Given the description of an element on the screen output the (x, y) to click on. 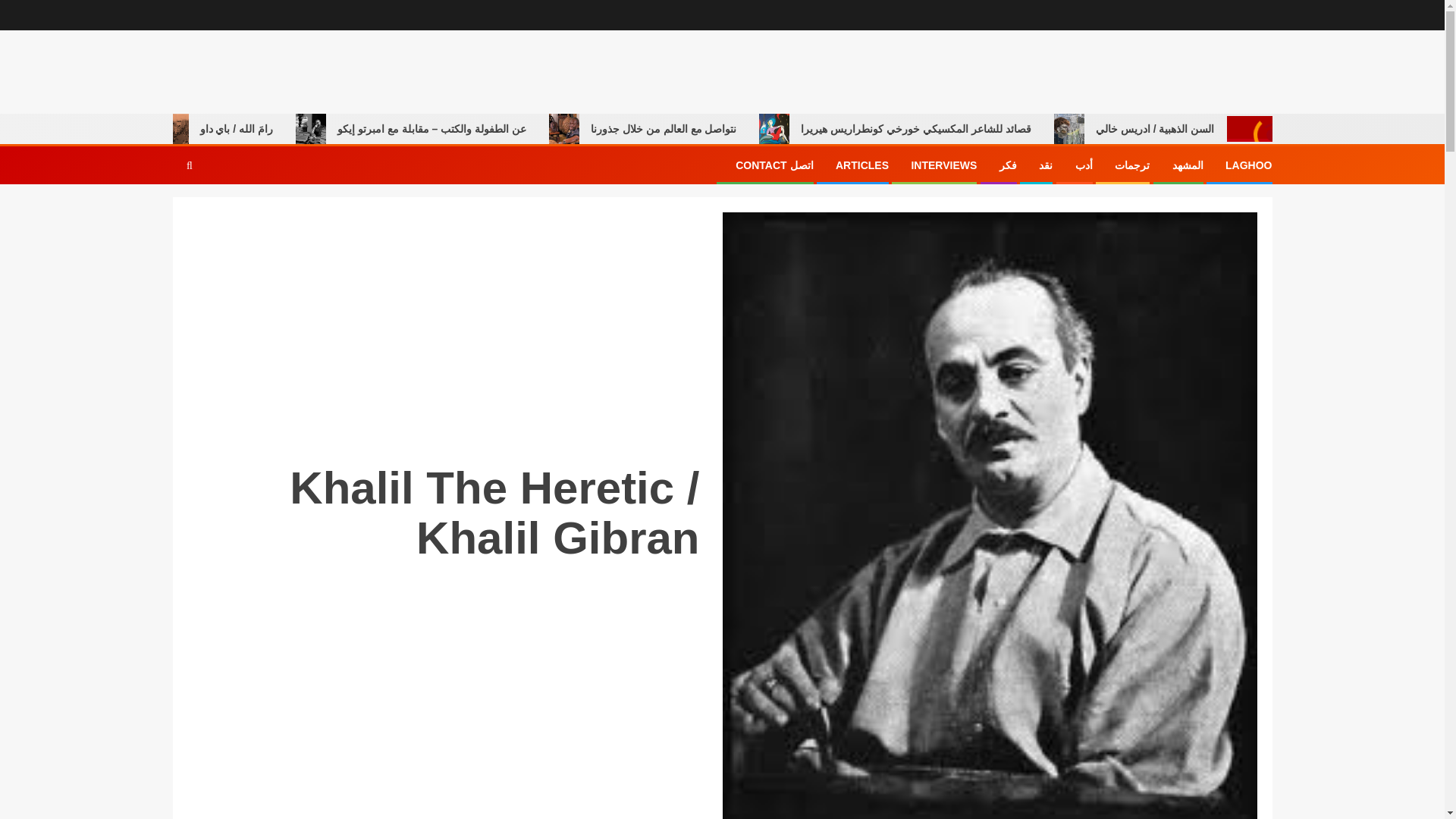
LAGHOO (1248, 164)
ARTICLES (861, 164)
INTERVIEWS (943, 164)
